Given the description of an element on the screen output the (x, y) to click on. 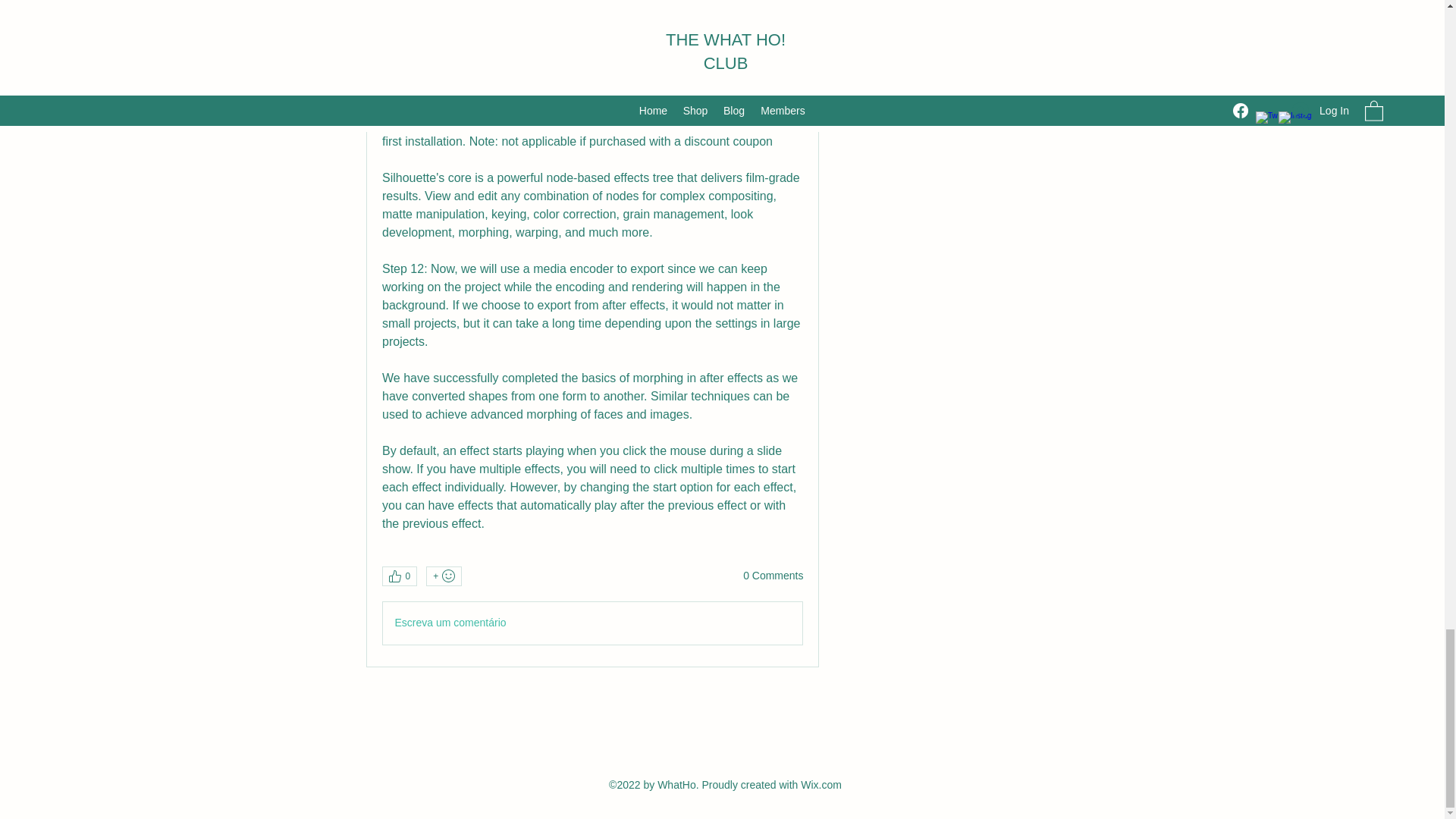
0 Comments (772, 575)
